Given the description of an element on the screen output the (x, y) to click on. 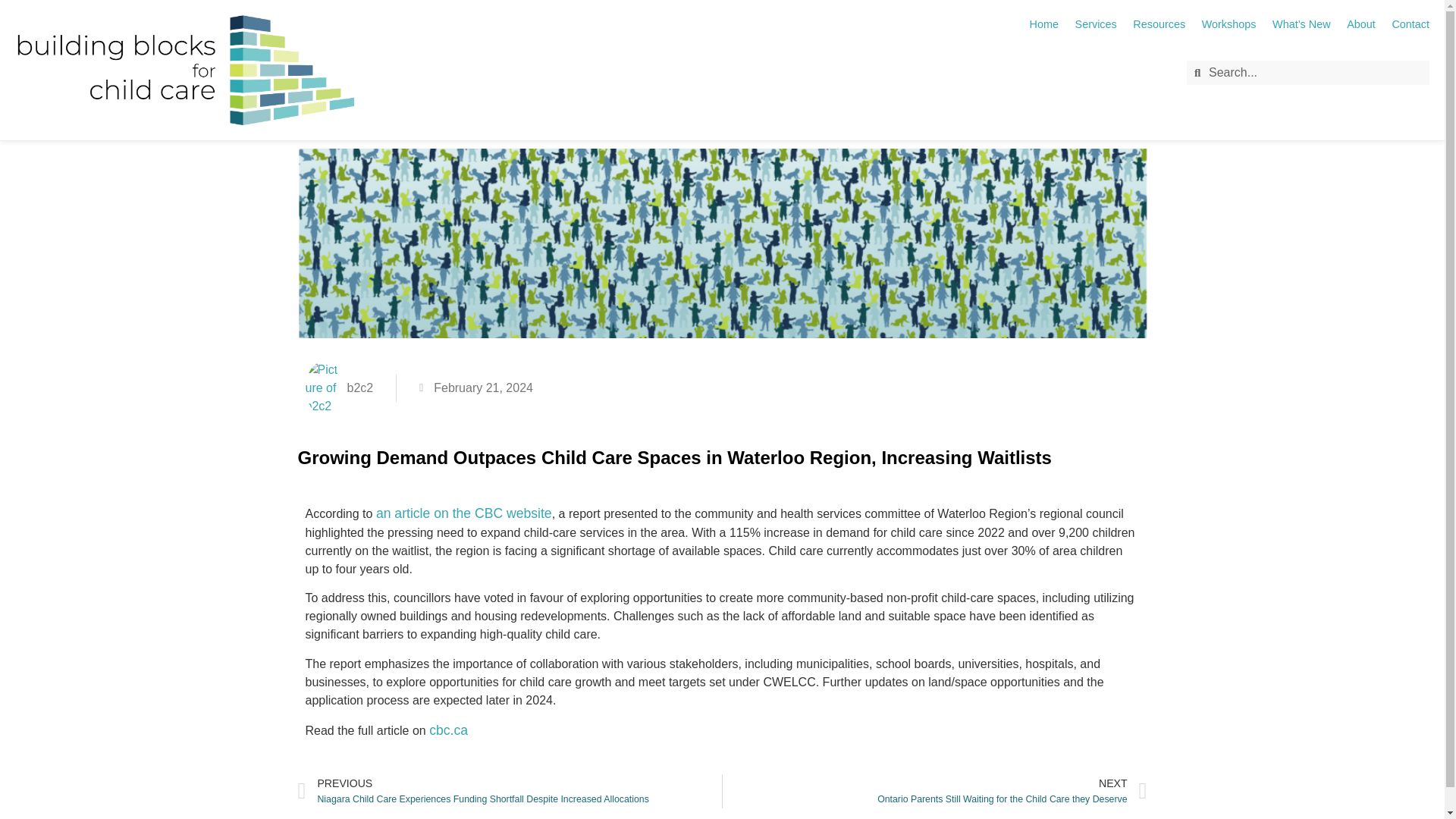
Resources (1158, 24)
About (1360, 24)
Contact (1410, 24)
cbc.ca (448, 729)
b2c2 (183, 70)
Home (1043, 24)
Services (1095, 24)
b2c2 (338, 388)
